Given the description of an element on the screen output the (x, y) to click on. 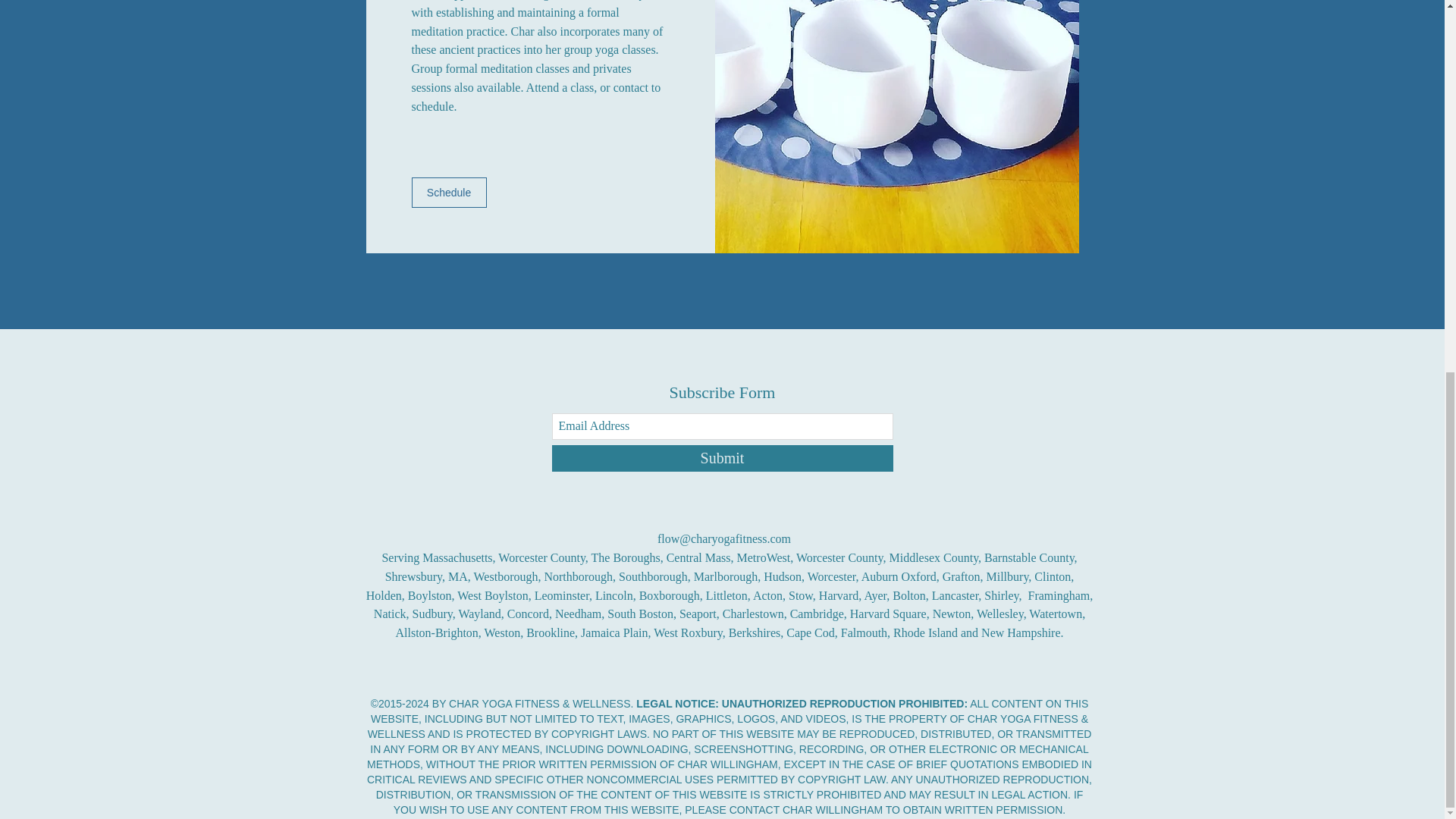
Schedule (448, 192)
Submit (722, 458)
